Given the description of an element on the screen output the (x, y) to click on. 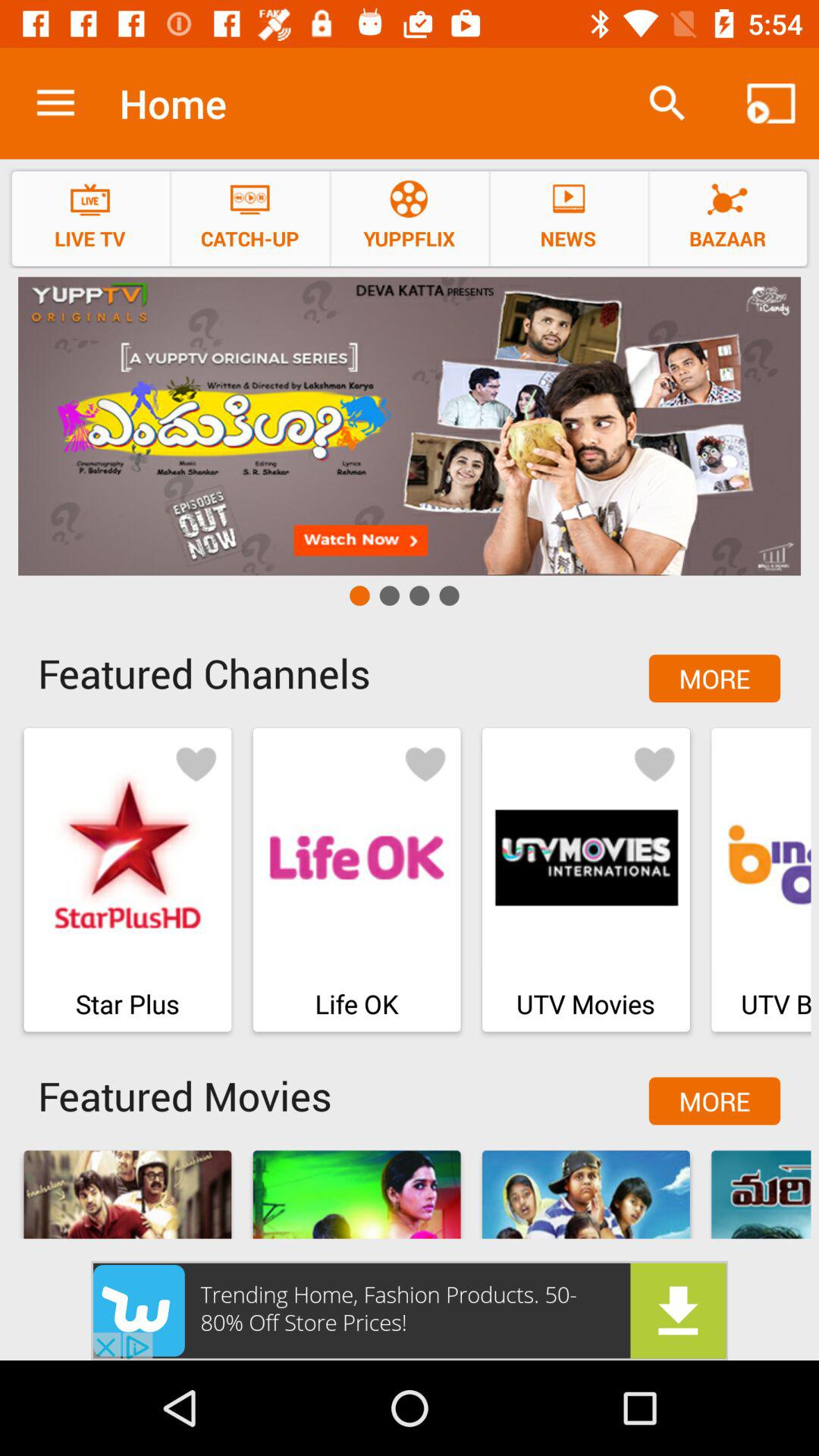
advertisement page (409, 425)
